Given the description of an element on the screen output the (x, y) to click on. 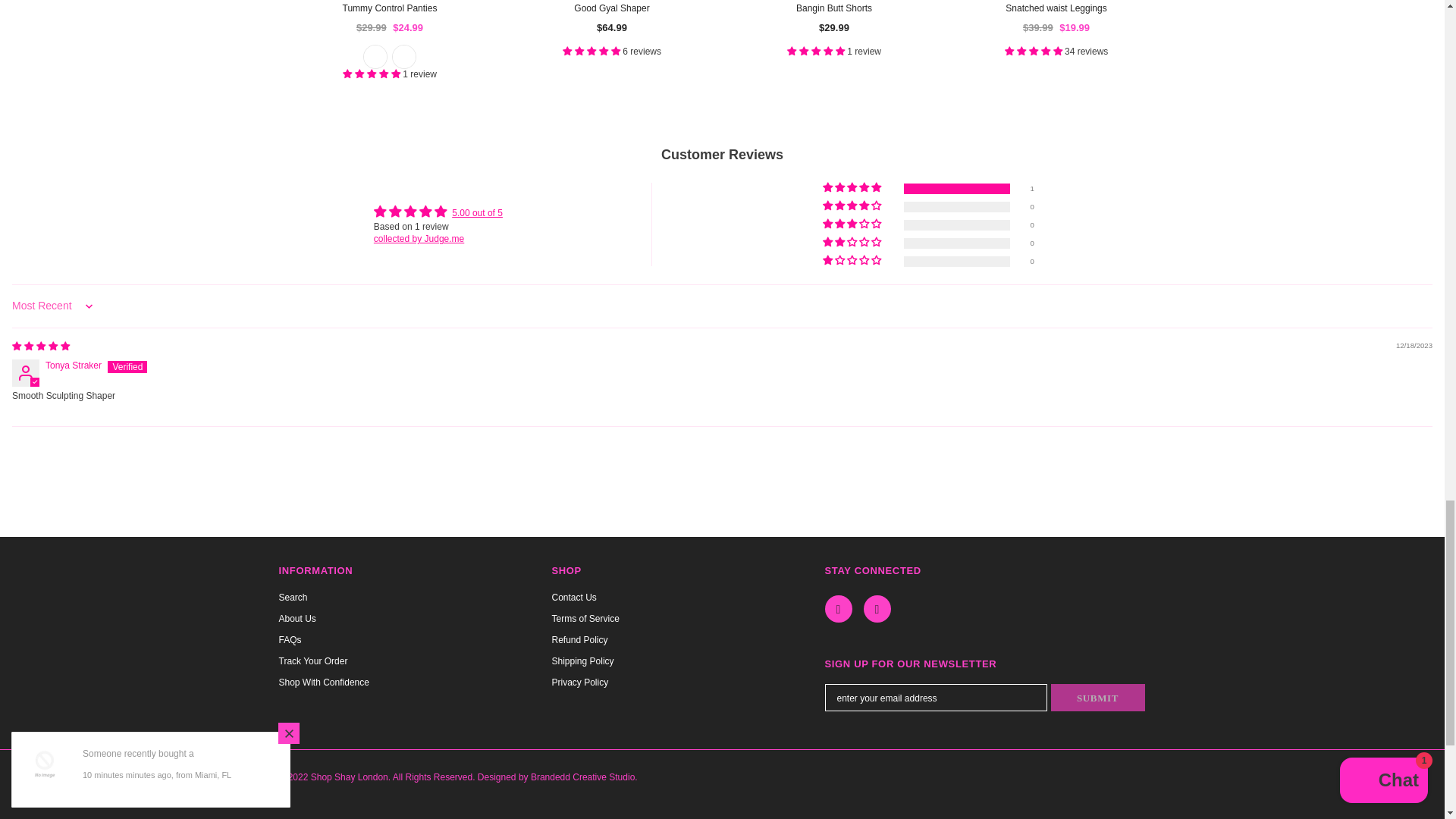
Submit (1097, 697)
